Given the description of an element on the screen output the (x, y) to click on. 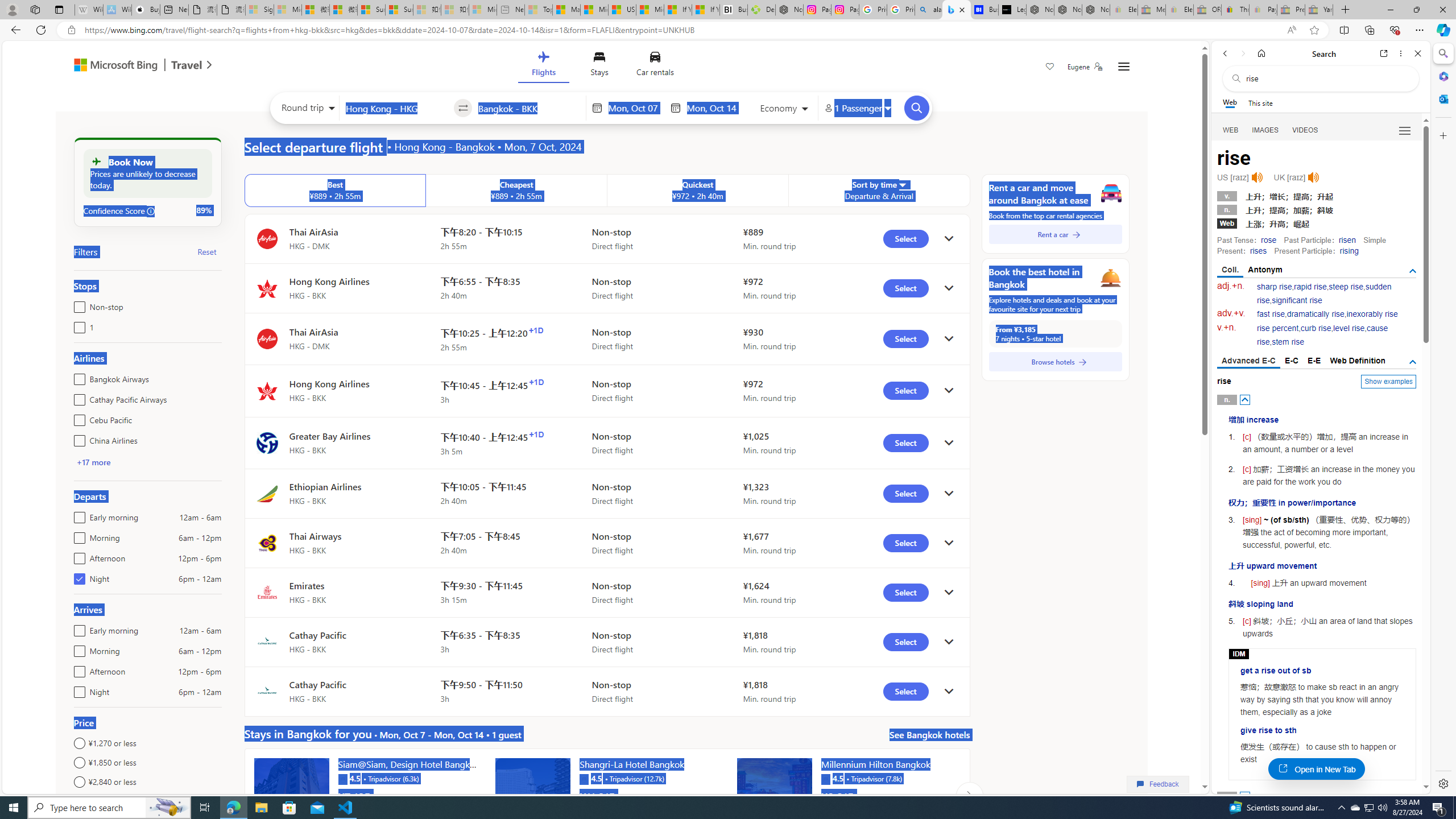
Car rentals (654, 65)
rose (1268, 239)
dramatically rise (1315, 313)
Advanced E-C (1248, 361)
Swap source and destination (463, 108)
Click to listen (1313, 177)
Save (1049, 67)
AutomationID: tgsb (1412, 270)
